Given the description of an element on the screen output the (x, y) to click on. 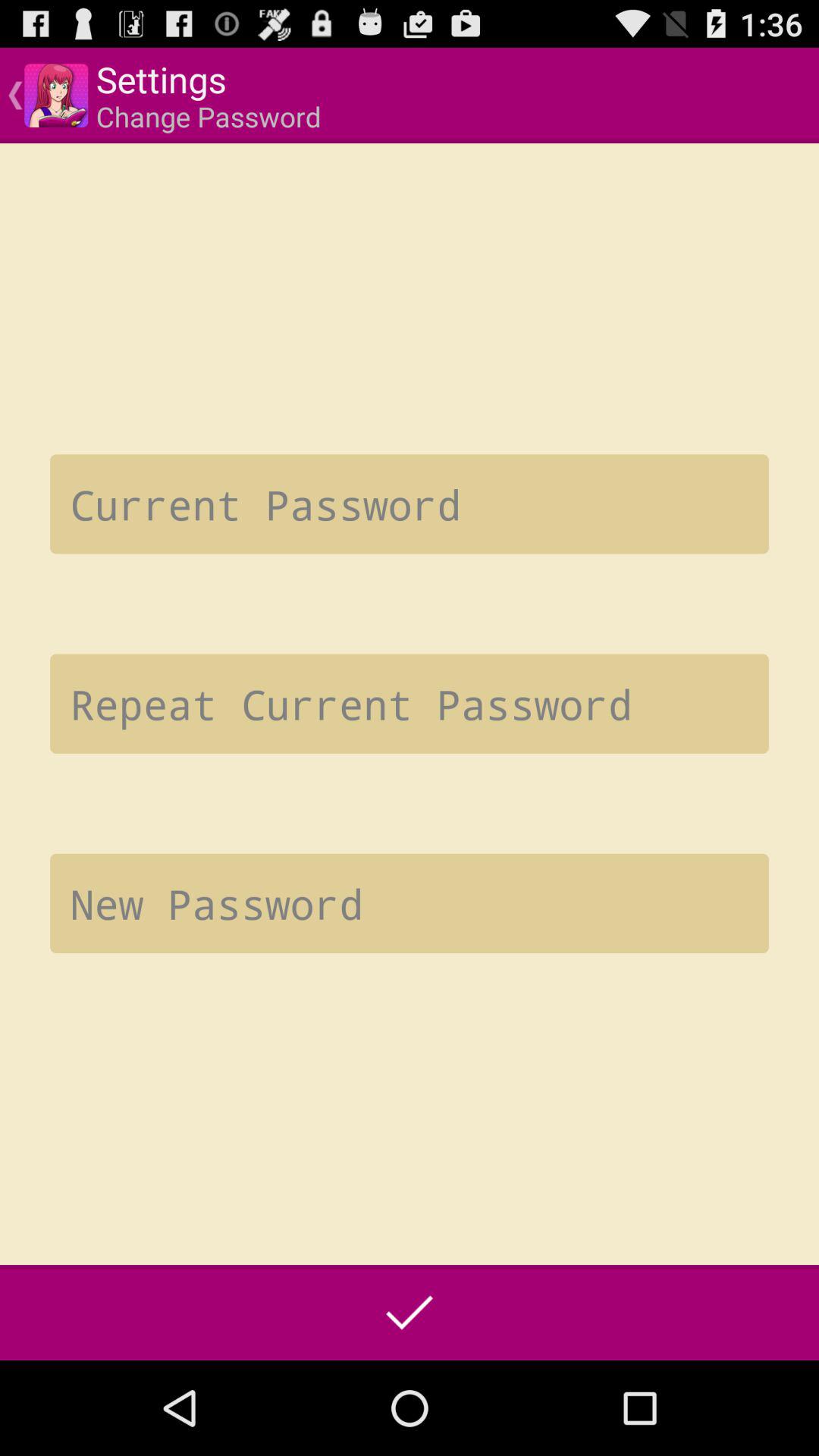
password (409, 703)
